Given the description of an element on the screen output the (x, y) to click on. 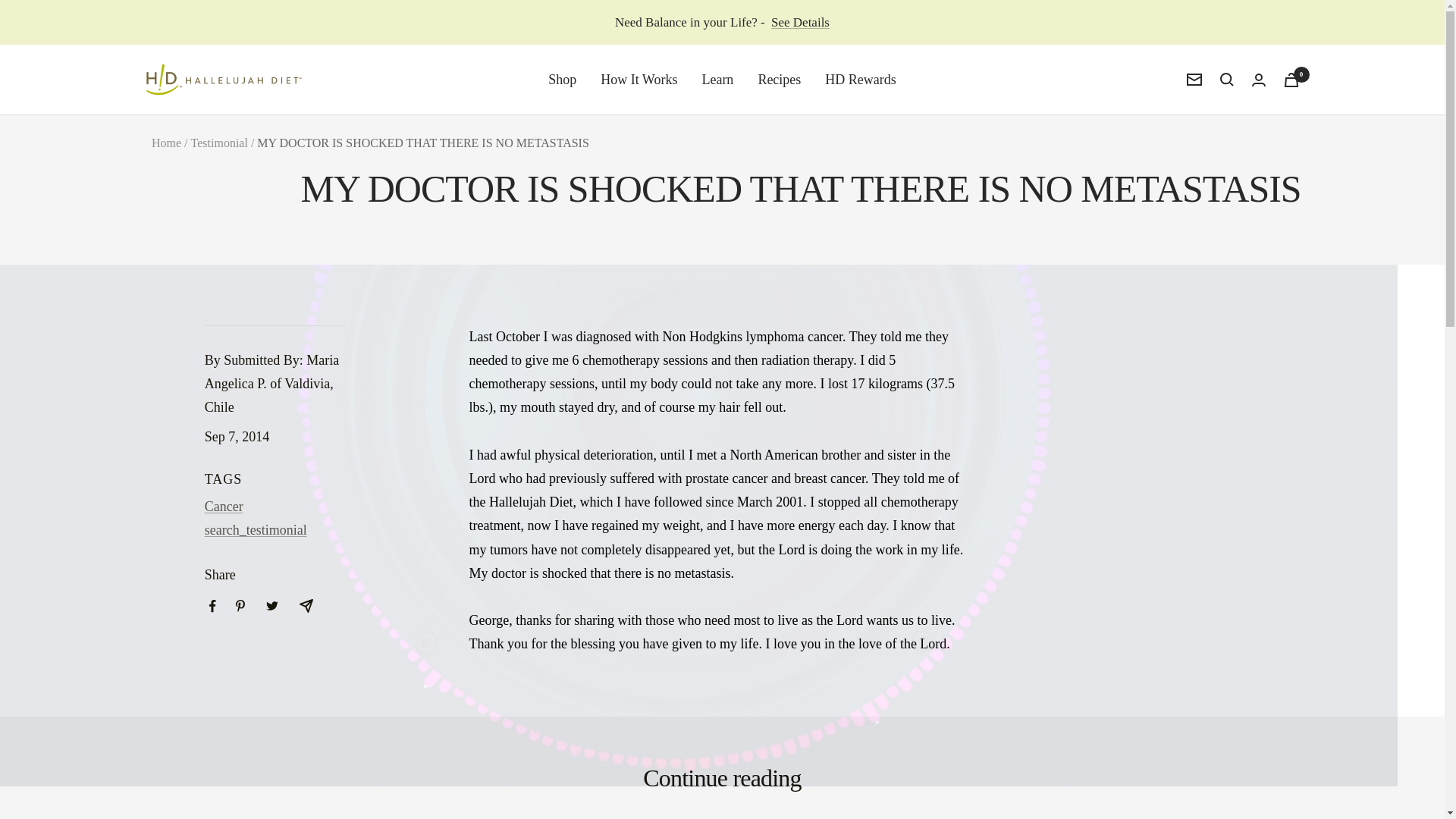
Recipes (778, 79)
Shop (562, 79)
Hallelujah Diet (223, 79)
How It Works (638, 79)
See Details (800, 22)
Learn (717, 79)
HD Rewards (860, 79)
0 (1291, 79)
Newsletter (1194, 79)
